Given the description of an element on the screen output the (x, y) to click on. 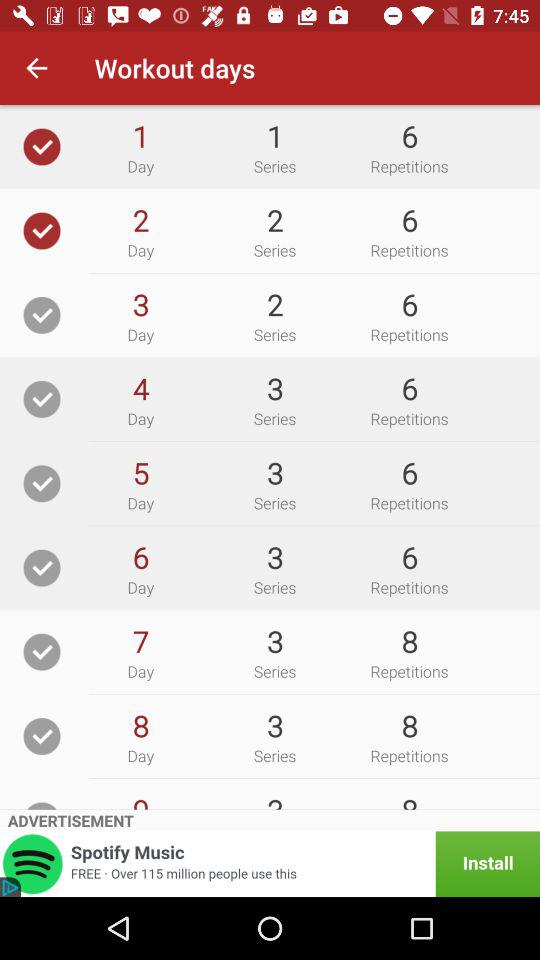
choose the 5 icon (140, 472)
